Given the description of an element on the screen output the (x, y) to click on. 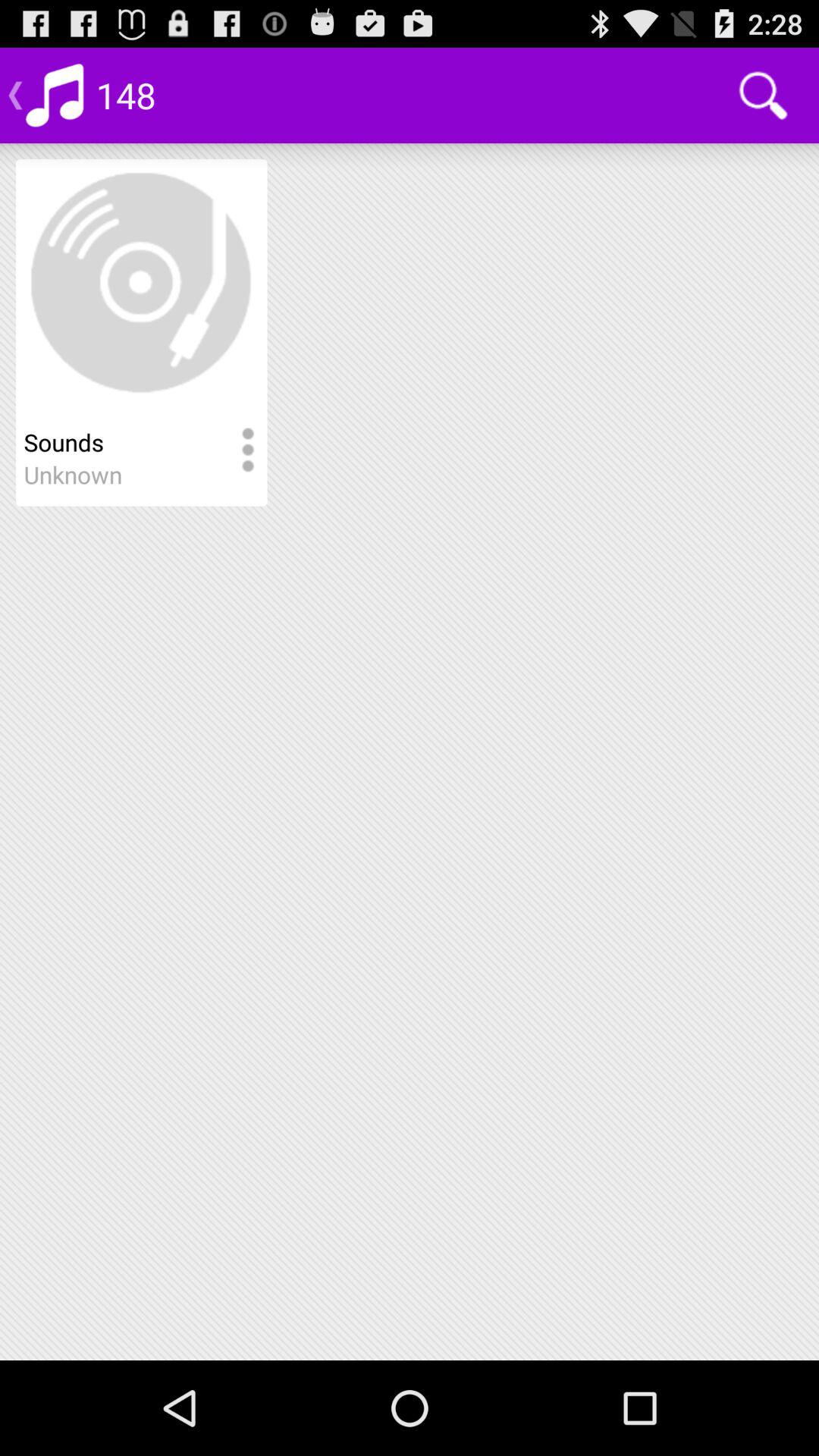
open options menu (247, 450)
